Given the description of an element on the screen output the (x, y) to click on. 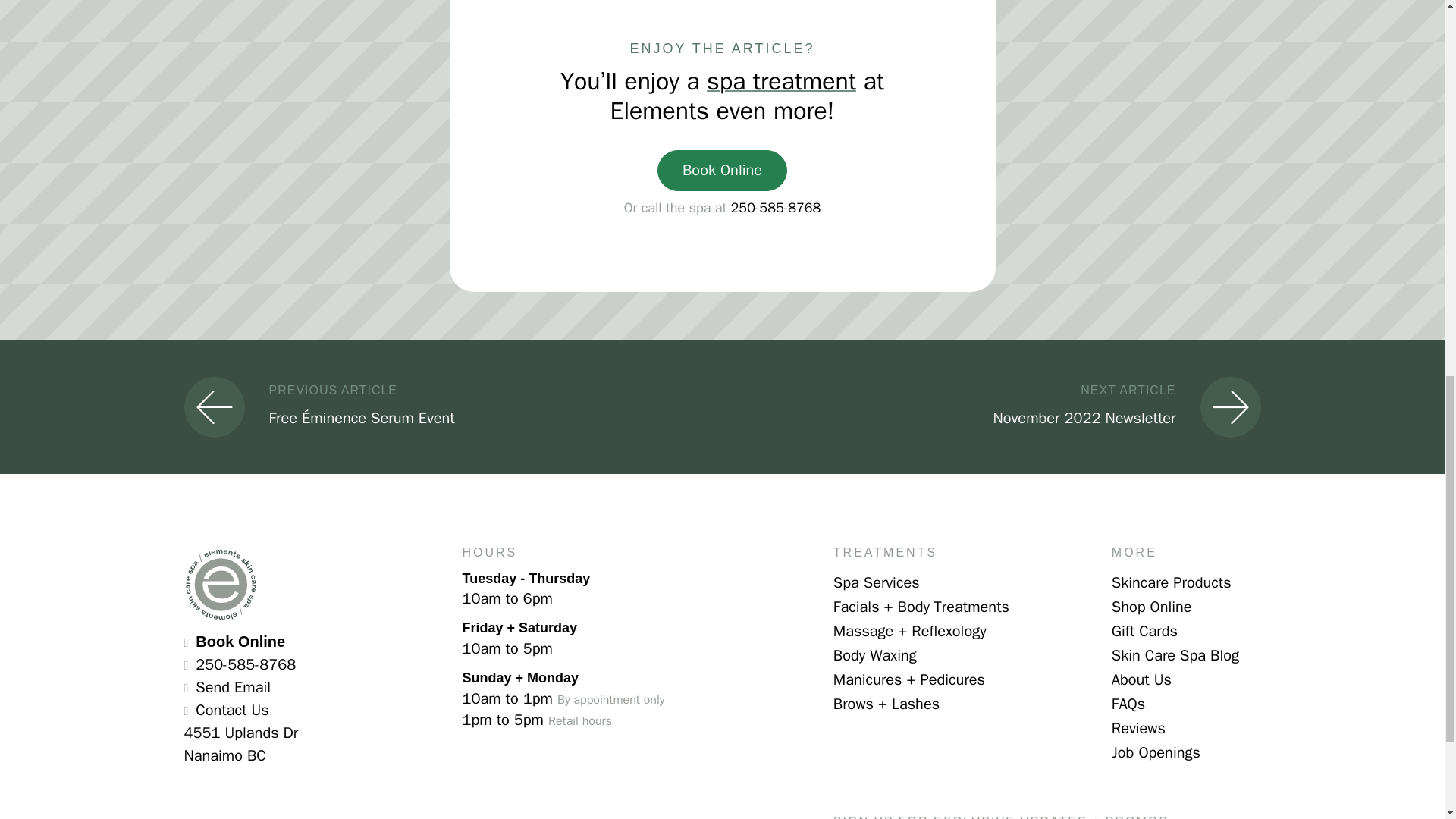
spa treatment (999, 406)
Book Online (781, 81)
Send Email (722, 169)
250-585-8768 (232, 687)
Book Online (775, 207)
250-585-8768 (240, 641)
